Given the description of an element on the screen output the (x, y) to click on. 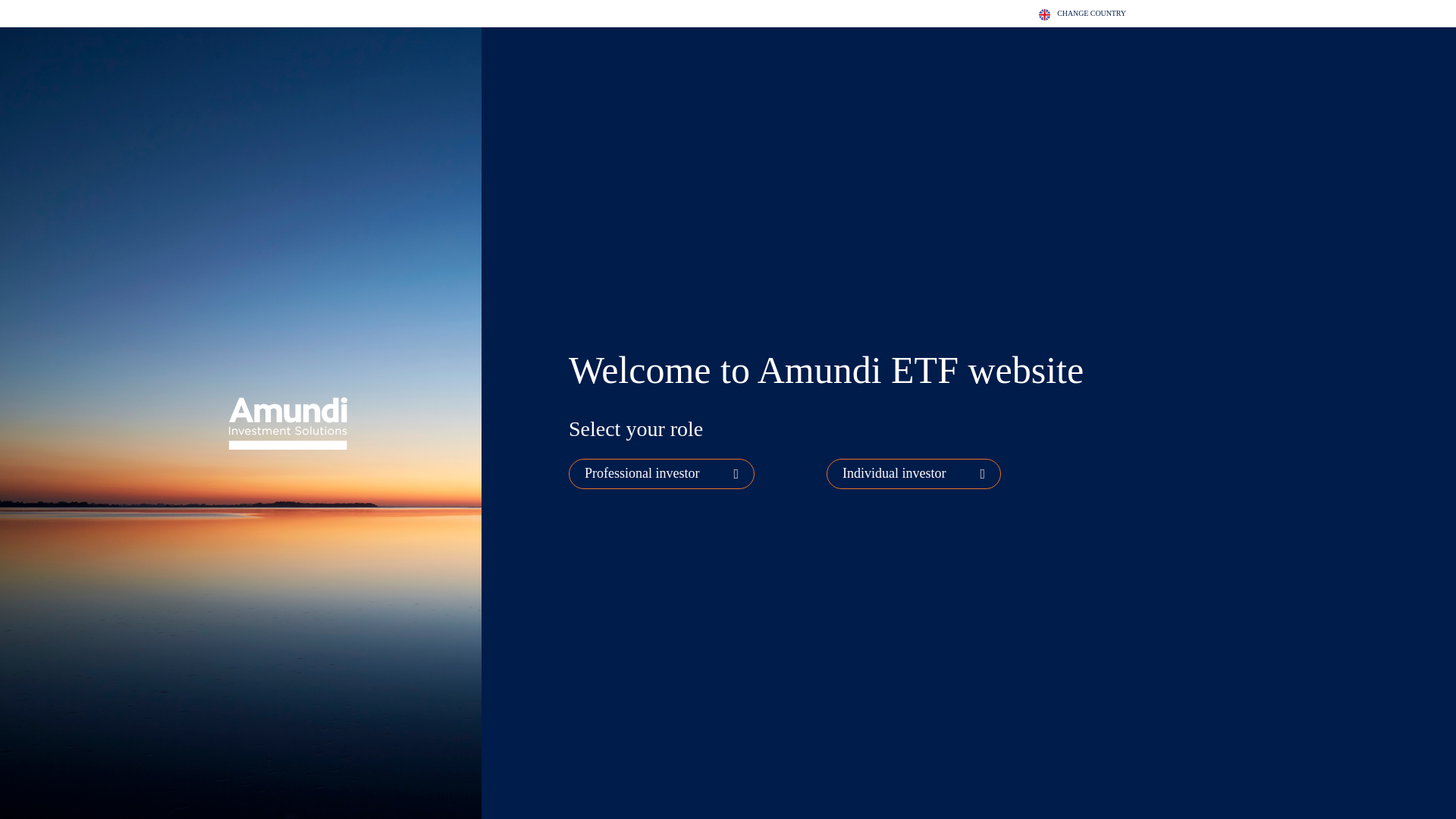
View our cookie policy (717, 443)
UNITED KINGDOM (975, 10)
PROFESSIONAL INVESTORS (1100, 10)
ABOUT US (882, 10)
